Given the description of an element on the screen output the (x, y) to click on. 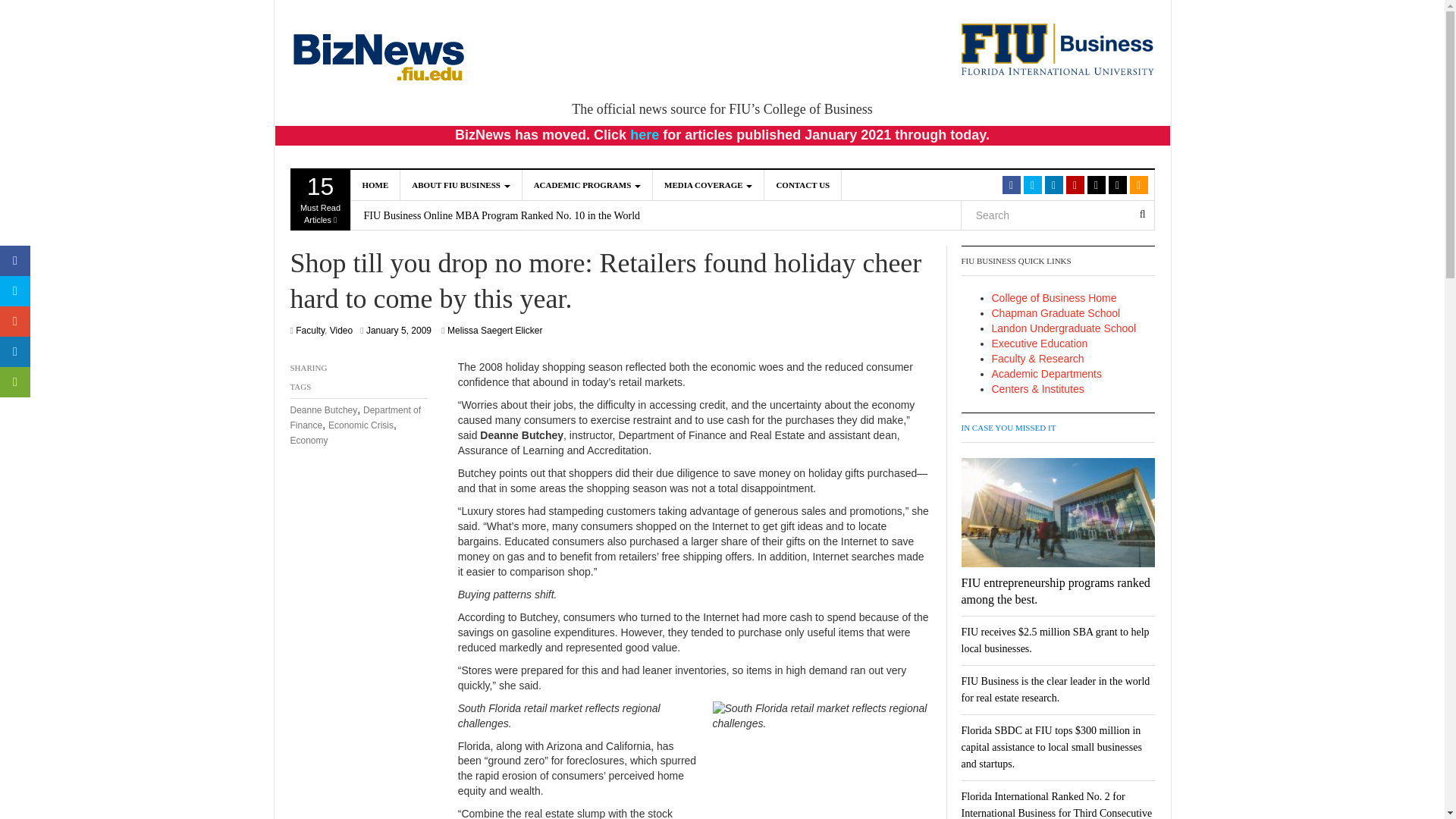
ABOUT FIU BUSINESS (319, 199)
MEDIA COVERAGE (460, 184)
HOME (708, 184)
ACADEMIC PROGRAMS (375, 184)
here (587, 184)
South Florida retail market reflects regional challenges. (644, 134)
